Given the description of an element on the screen output the (x, y) to click on. 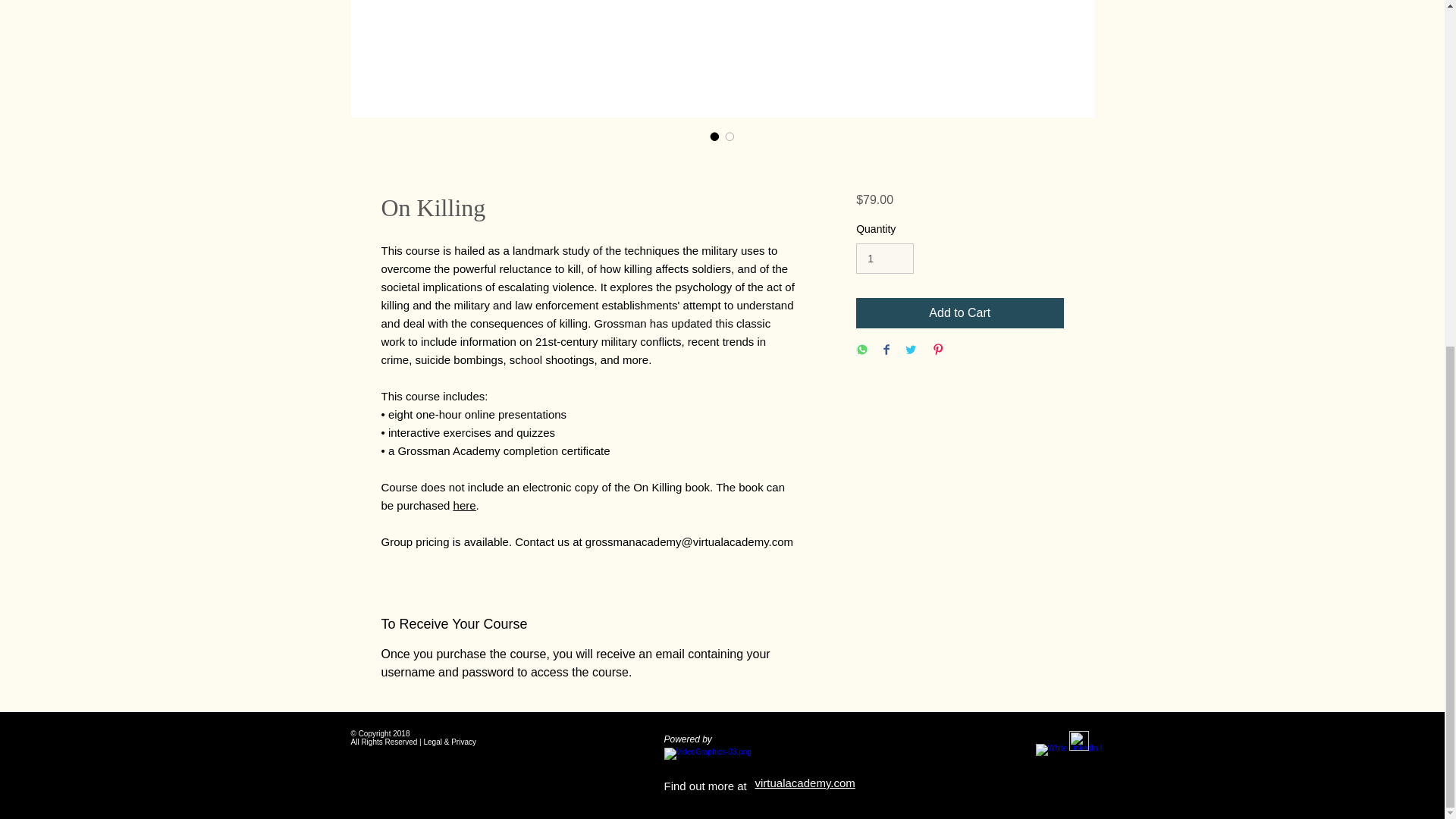
Add to Cart (959, 313)
here (464, 504)
virtualacademy.com (805, 782)
1 (885, 258)
